Given the description of an element on the screen output the (x, y) to click on. 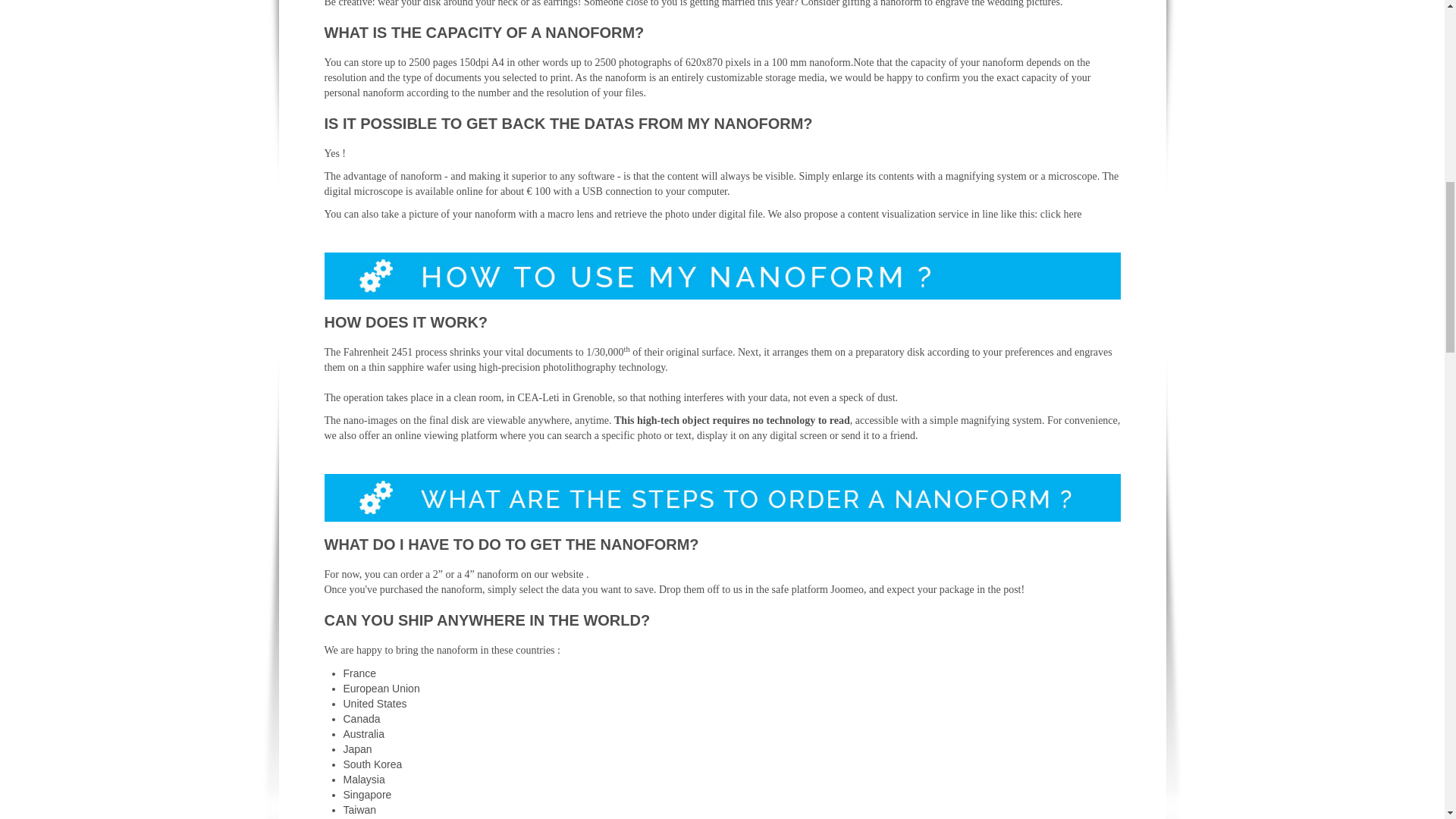
click here (1061, 214)
